Given the description of an element on the screen output the (x, y) to click on. 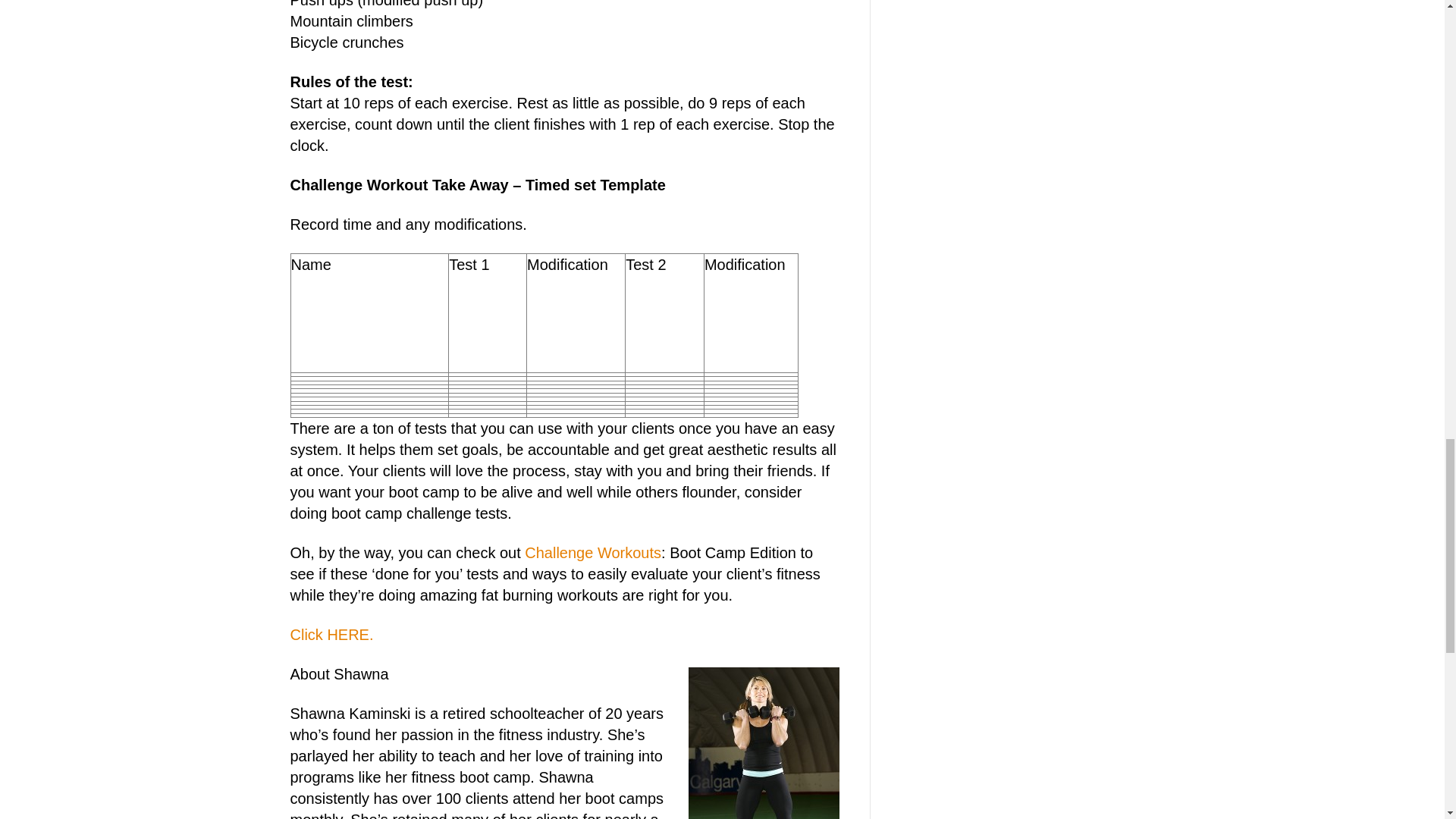
Click HERE. (330, 634)
main photo (764, 743)
Challenge Workouts (592, 552)
